Given the description of an element on the screen output the (x, y) to click on. 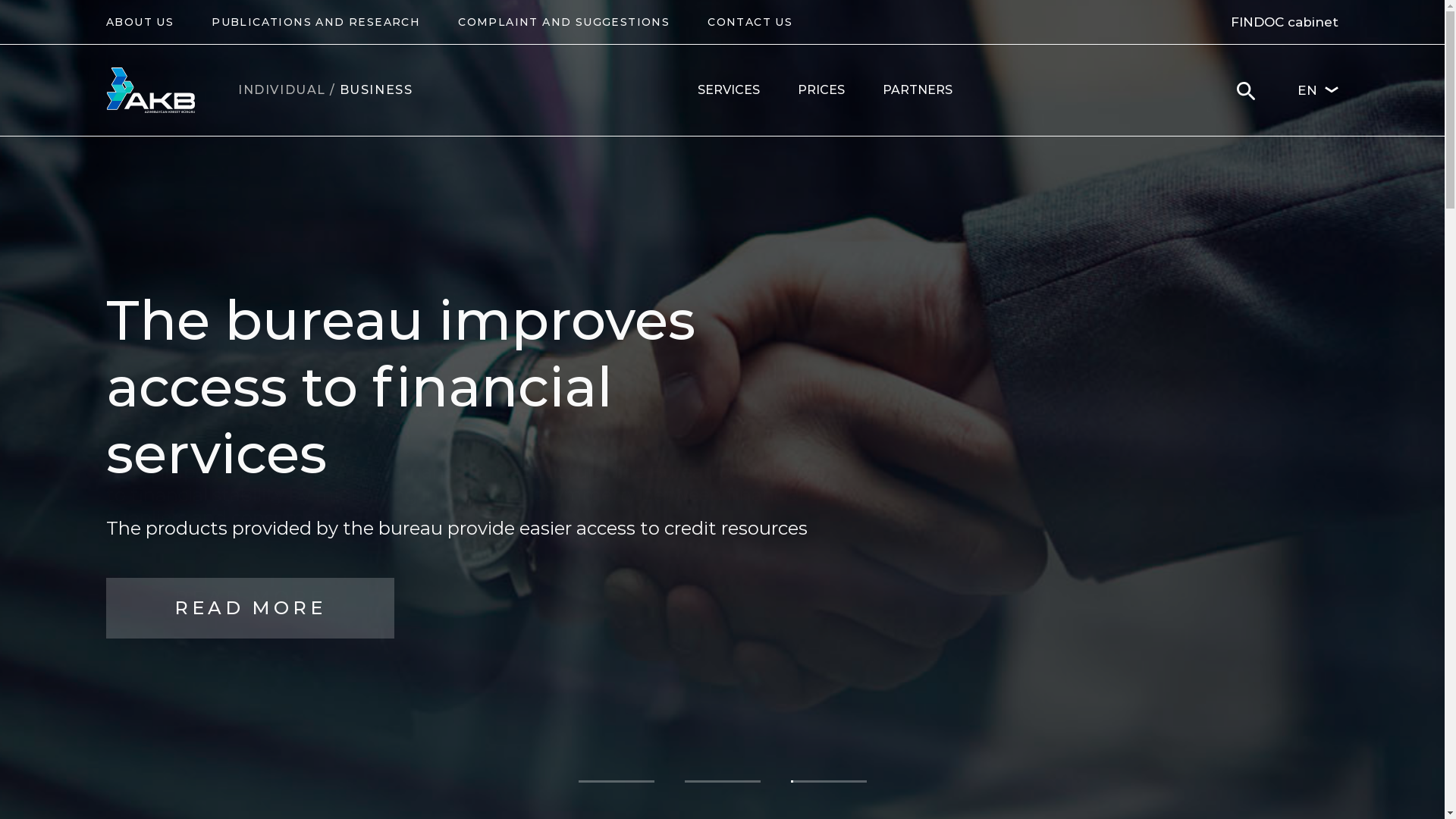
PARTNERS Element type: text (917, 89)
EN Element type: text (1317, 89)
READ MORE Element type: text (250, 585)
PRICES Element type: text (820, 89)
BUSINESS Element type: text (376, 89)
FINDOC cabinet Element type: text (1284, 21)
READ MORE Element type: text (250, 597)
SERVICES Element type: text (728, 89)
PUBLICATIONS AND RESEARCH Element type: text (315, 21)
COMPLAINT AND SUGGESTIONS Element type: text (563, 21)
ABOUT US Element type: text (139, 21)
CONTACT US Element type: text (749, 21)
INDIVIDUAL Element type: text (282, 89)
